Given the description of an element on the screen output the (x, y) to click on. 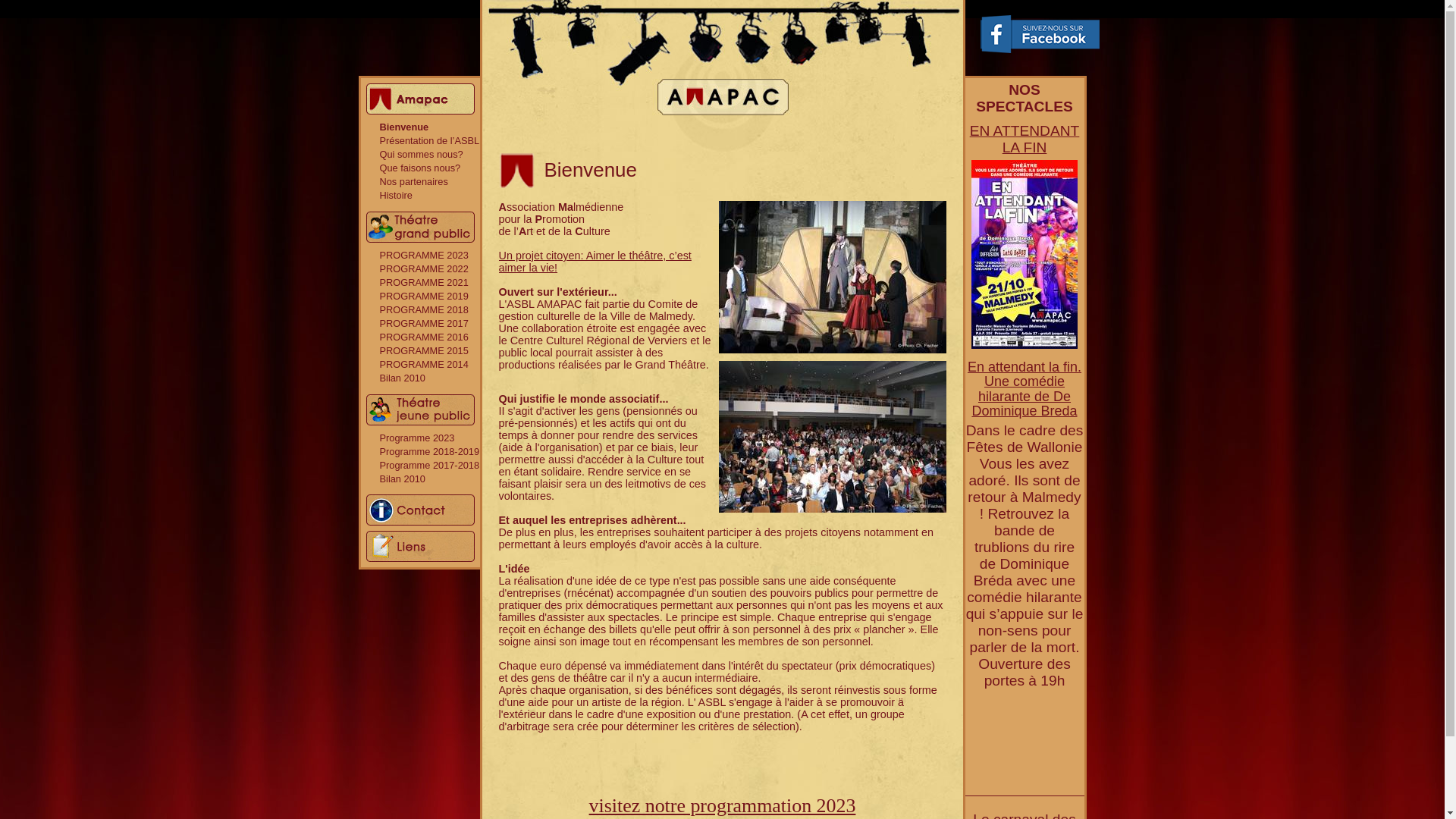
Histoire Element type: text (395, 194)
PROGRAMME 2014 Element type: text (423, 364)
PROGRAMME 2019 Element type: text (423, 295)
Programme 2023 Element type: text (416, 437)
PROGRAMME 2016 Element type: text (423, 336)
visitez notre programmation 2023 Element type: text (722, 804)
Liens Element type: text (419, 545)
Que faisons nous? Element type: text (419, 167)
PROGRAMME 2021 Element type: text (423, 282)
Home Element type: text (722, 75)
PROGRAMME 2022 Element type: text (423, 268)
Contact Element type: text (419, 509)
Programme 2017-2018 Element type: text (429, 464)
PROGRAMME 2023 Element type: text (423, 254)
Bilan 2010 Element type: text (401, 377)
PROGRAMME 2017 Element type: text (423, 323)
PROGRAMME 2015 Element type: text (423, 350)
Programme 2018-2019 Element type: text (429, 451)
Bilan 2010 Element type: text (401, 478)
Bienvenue Element type: text (403, 126)
Nos partenaires Element type: text (413, 181)
PROGRAMME 2018 Element type: text (423, 309)
Qui sommes nous? Element type: text (420, 154)
Amapac Element type: text (419, 98)
EN ATTENDANT LA FIN Element type: text (1024, 138)
